Given the description of an element on the screen output the (x, y) to click on. 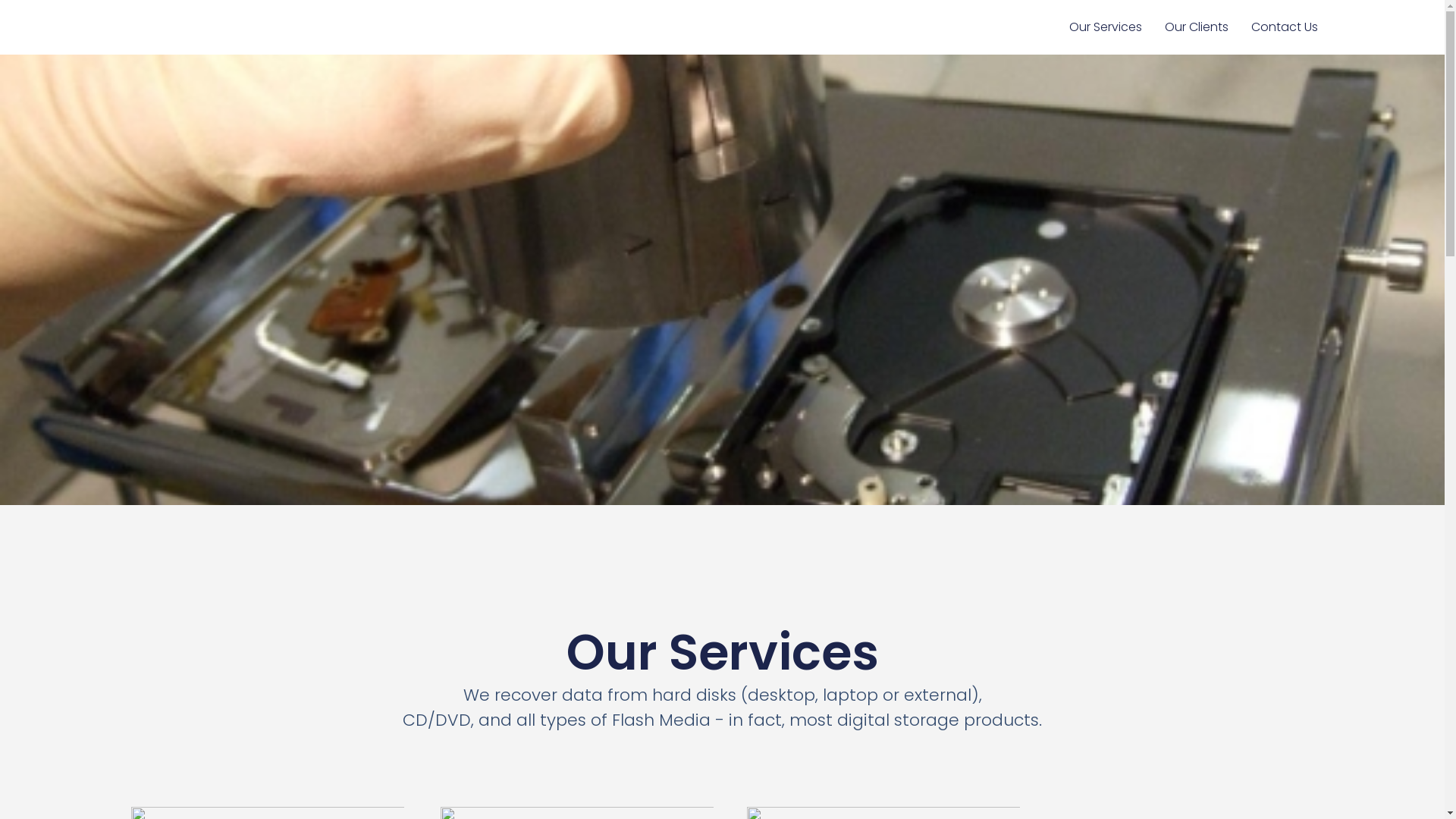
Our Services Element type: text (722, 78)
Our Clients Element type: text (1195, 27)
Our Services Element type: text (1104, 27)
Contact Us Element type: text (1283, 27)
